Given the description of an element on the screen output the (x, y) to click on. 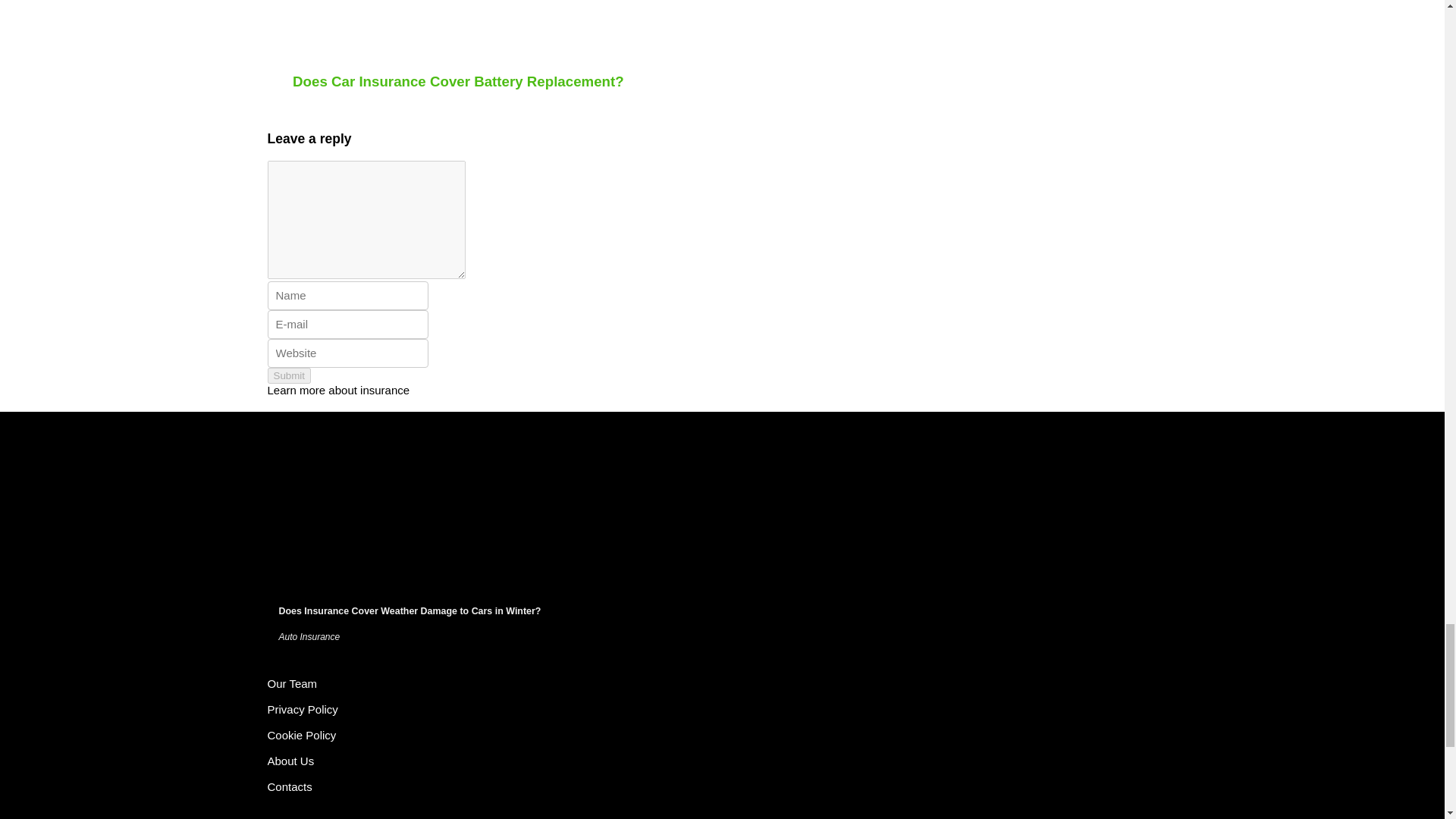
Cookie Policy (301, 735)
Privacy Policy (301, 708)
Submit (288, 375)
About Us (290, 760)
Terms (291, 683)
